Given the description of an element on the screen output the (x, y) to click on. 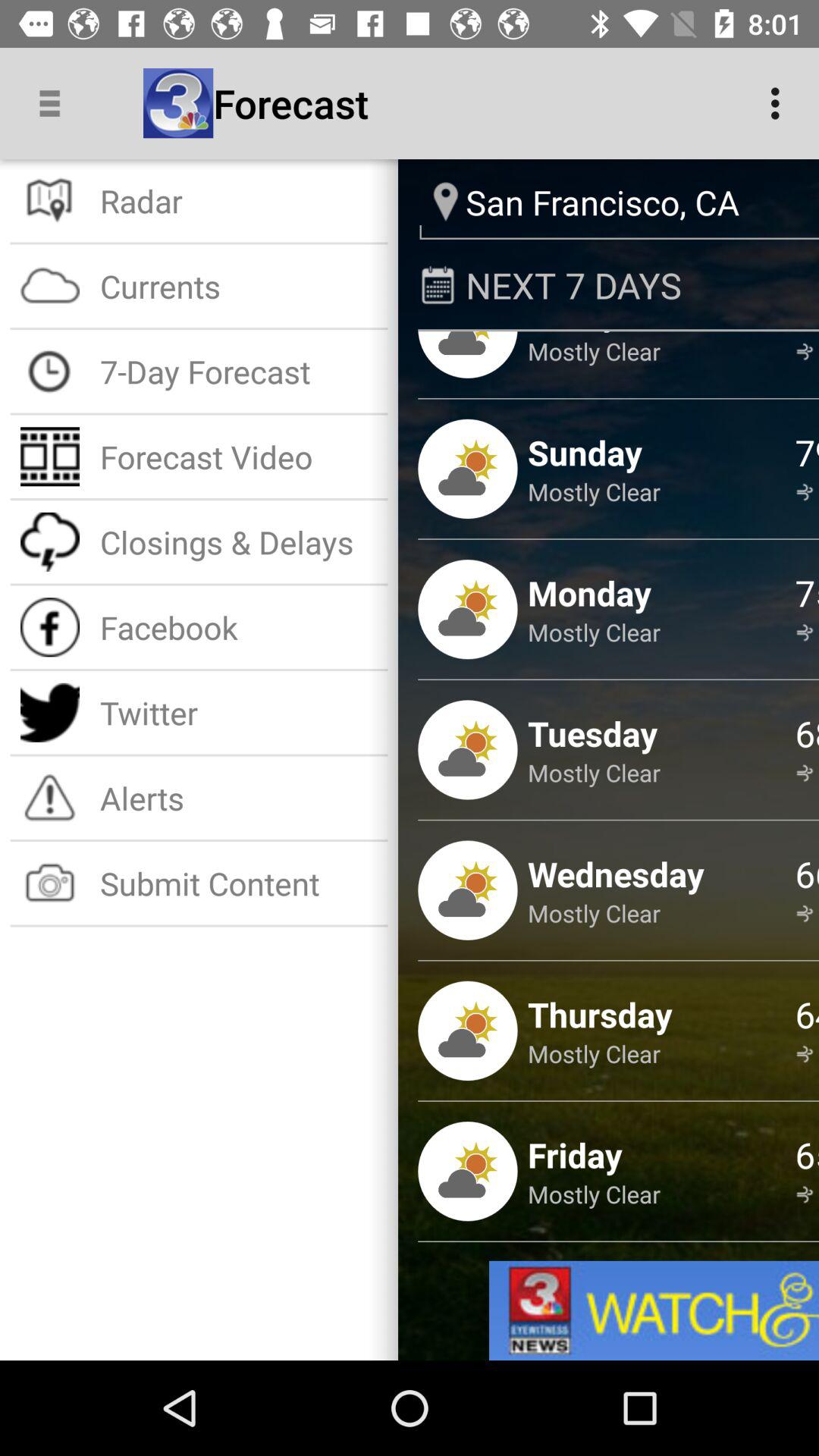
open item next to mostly clear (807, 333)
